Given the description of an element on the screen output the (x, y) to click on. 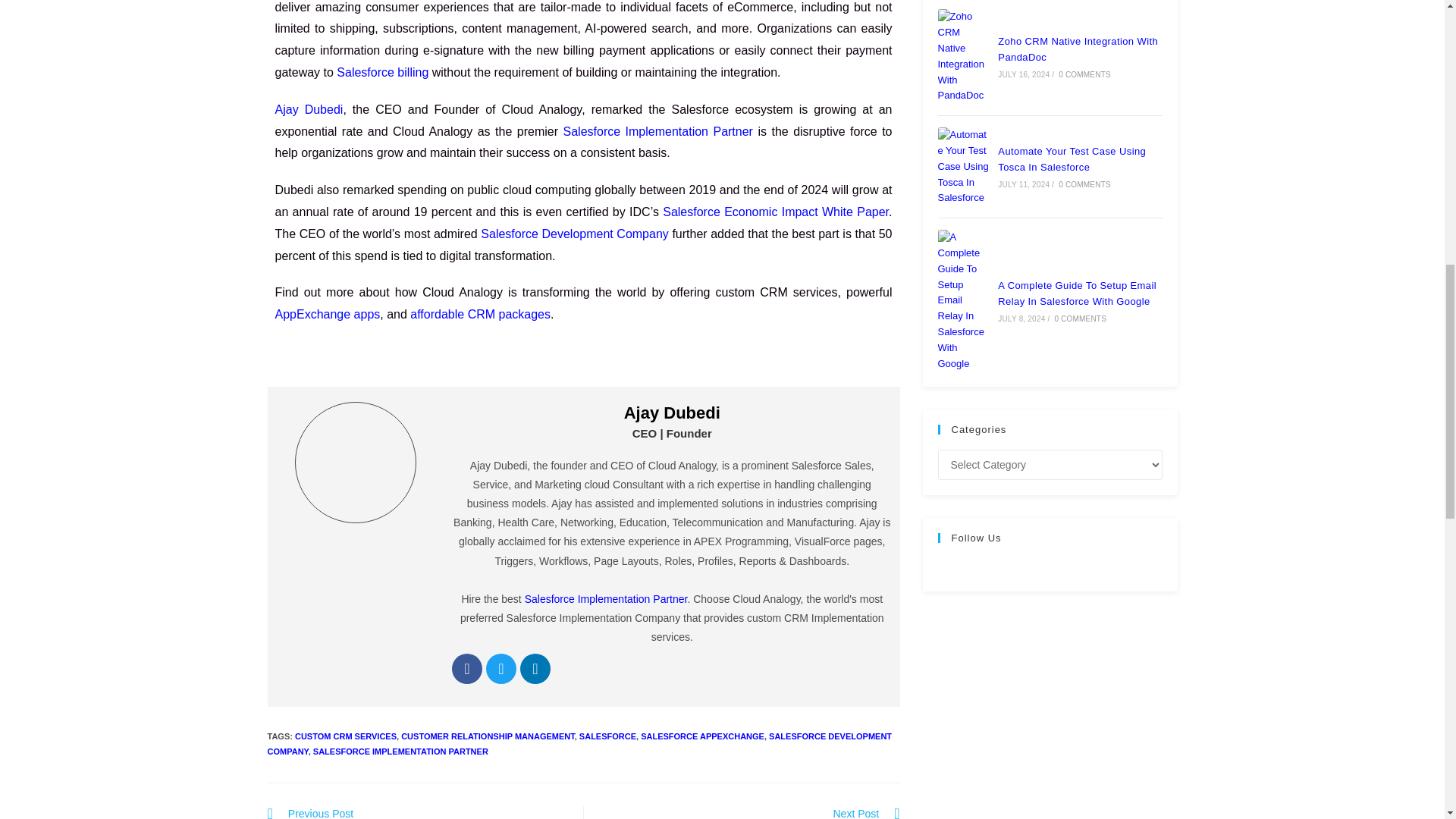
Ajay (355, 462)
